Given the description of an element on the screen output the (x, y) to click on. 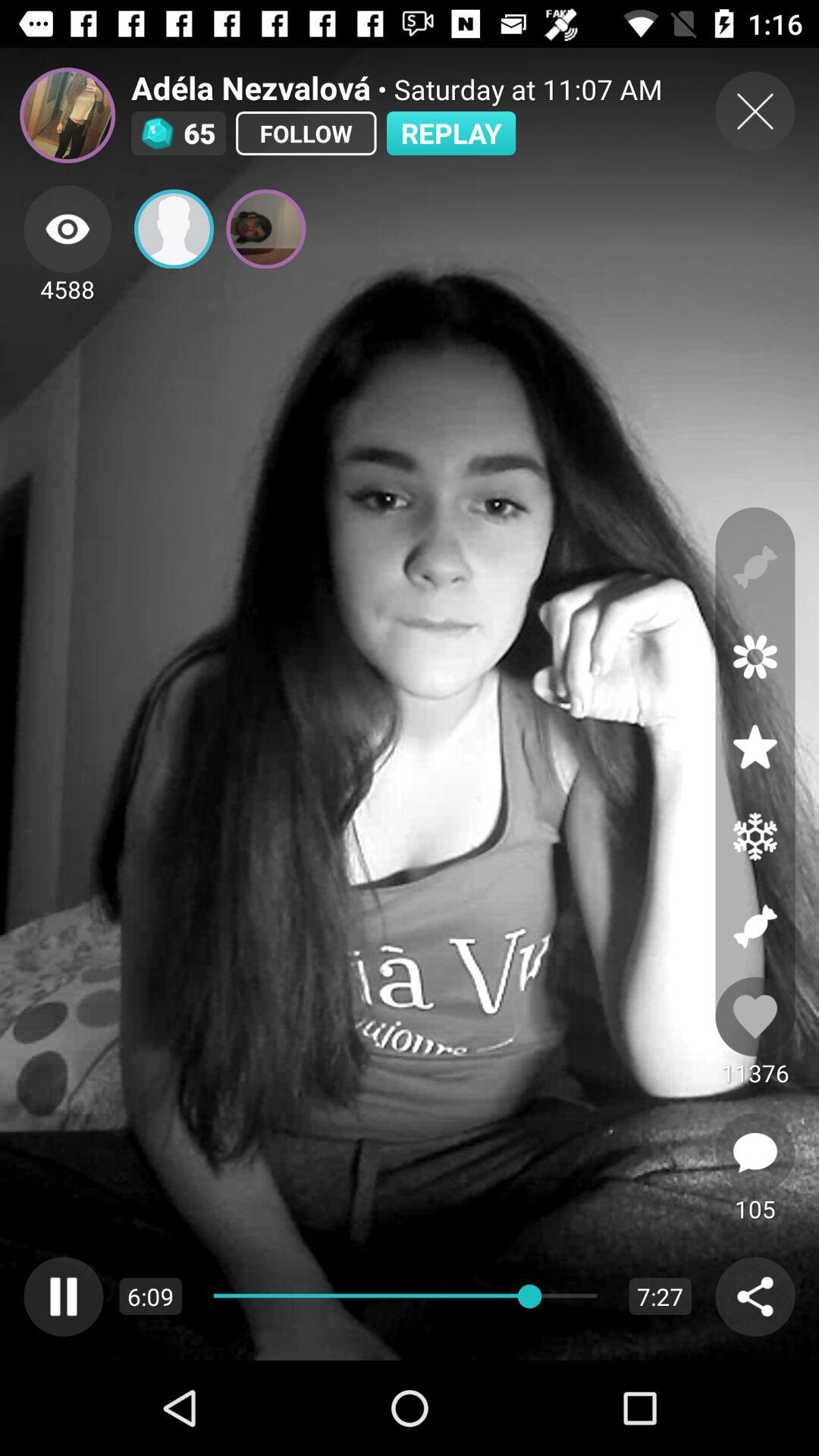
open chat (755, 1152)
